Given the description of an element on the screen output the (x, y) to click on. 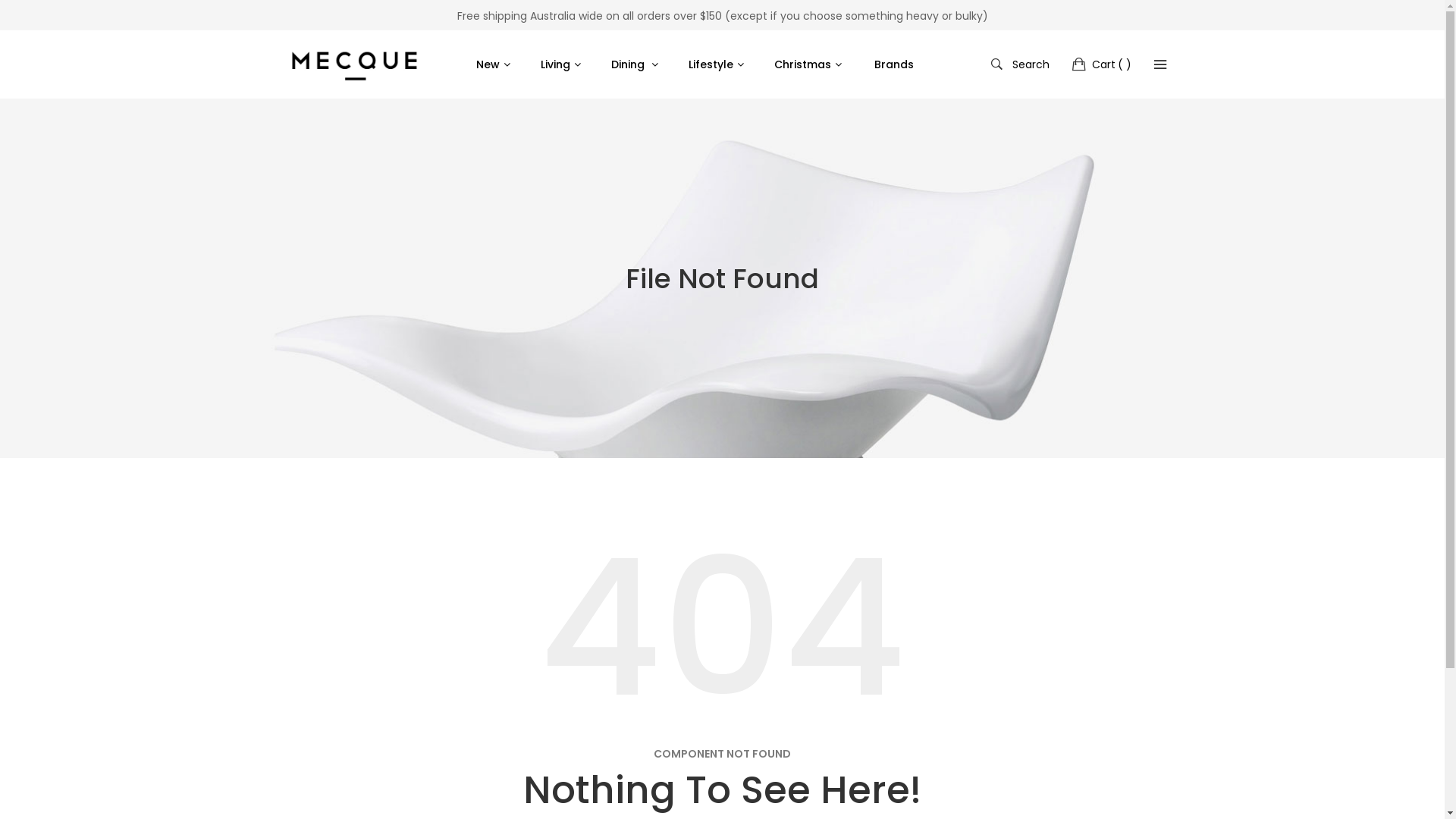
Living Element type: text (563, 64)
Lifestyle Element type: text (719, 64)
Cart ( ) Element type: text (1101, 64)
New Element type: text (500, 64)
Dining Element type: text (638, 64)
Brands Element type: text (893, 64)
Christmas Element type: text (810, 64)
